Given the description of an element on the screen output the (x, y) to click on. 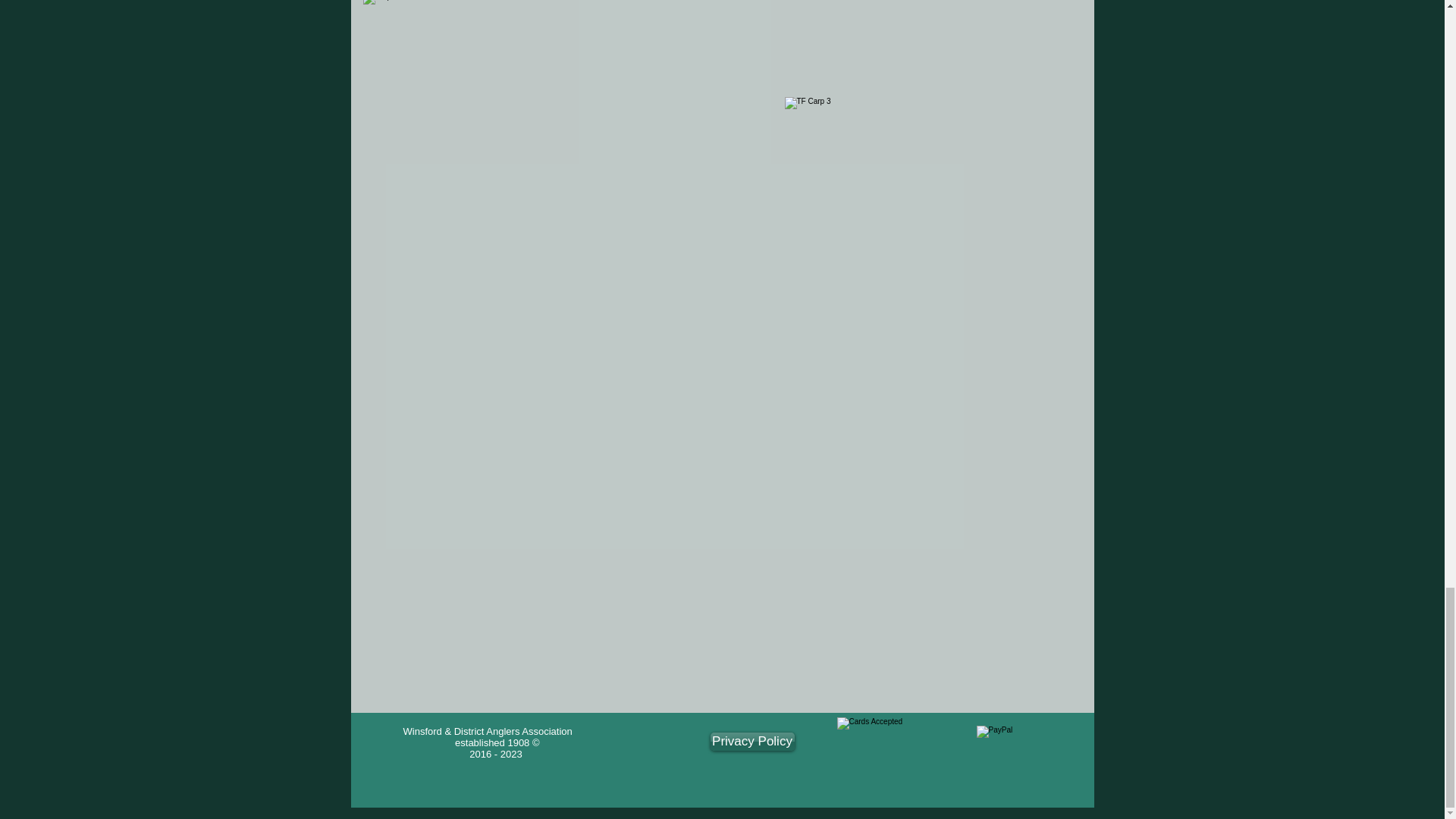
Privacy Policy (751, 741)
